Given the description of an element on the screen output the (x, y) to click on. 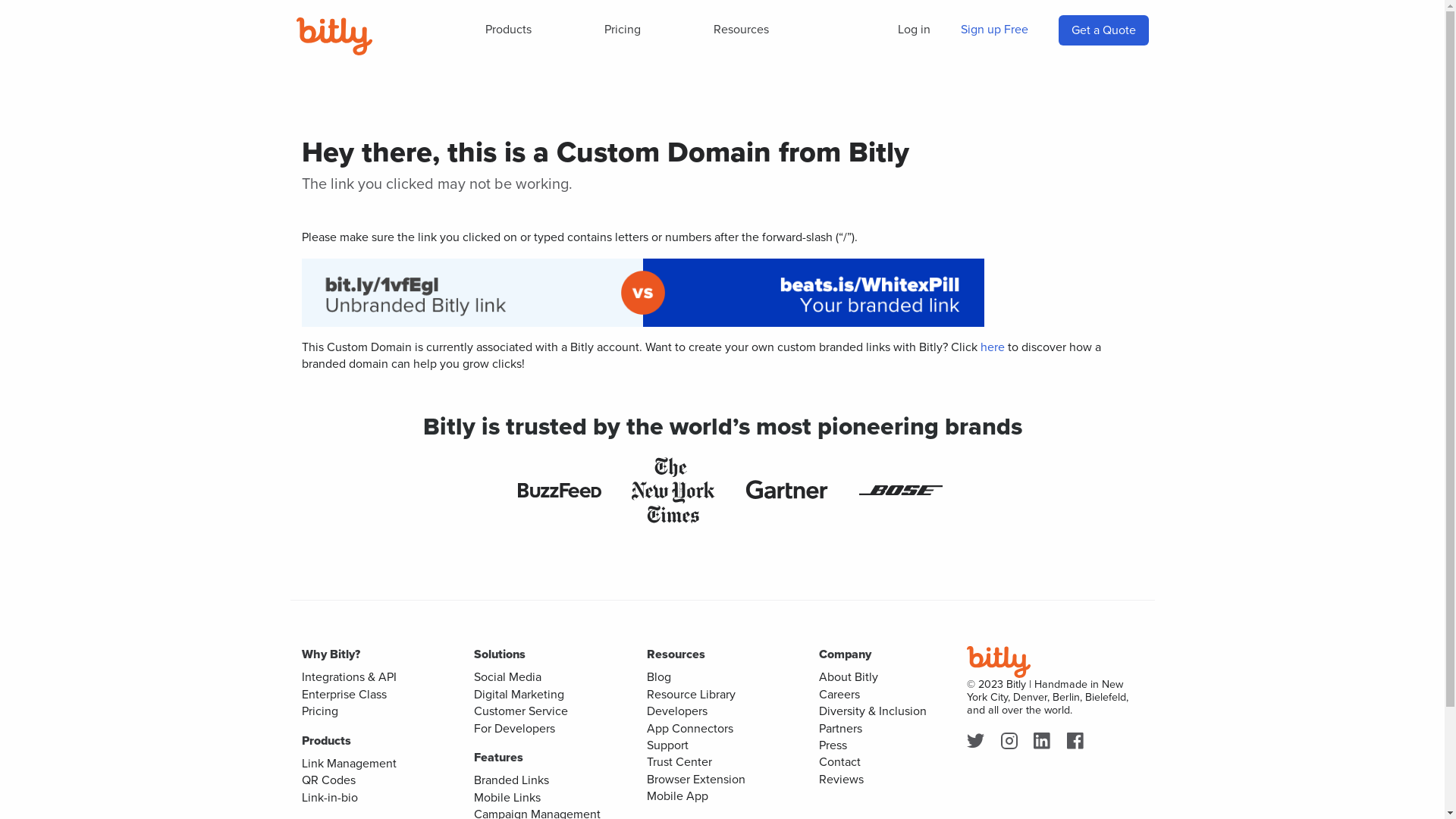
Digital Marketing Element type: text (518, 693)
linkedin Element type: text (1044, 742)
Pricing Element type: text (319, 710)
Careers Element type: text (839, 693)
For Developers Element type: text (514, 728)
Customer Service Element type: text (520, 710)
Mobile Links Element type: text (506, 797)
Social Media Element type: text (507, 676)
Resources Element type: text (741, 29)
Partners Element type: text (840, 728)
Enterprise Class Element type: text (343, 693)
Resource Library Element type: text (690, 693)
Trust Center Element type: text (678, 761)
Blog Element type: text (658, 676)
About Bitly Element type: text (848, 676)
Mobile App Element type: text (676, 795)
App Connectors Element type: text (689, 728)
here Element type: text (991, 346)
Products Element type: text (508, 29)
Pricing Element type: text (622, 29)
Link Management Element type: text (348, 762)
Browser Extension Element type: text (695, 778)
Sign up Free Element type: text (993, 29)
Reviews Element type: text (841, 778)
Diversity & Inclusion Element type: text (872, 710)
Press Element type: text (833, 744)
Contact Element type: text (839, 761)
Branded Links Element type: text (511, 779)
Get a Quote Element type: text (1102, 29)
Link-in-bio Element type: text (329, 797)
Integrations & API Element type: text (348, 676)
Developers Element type: text (676, 710)
QR Codes Element type: text (328, 779)
Log in Element type: text (913, 29)
Support Element type: text (666, 744)
Facebook Element type: text (1077, 742)
twitter Element type: text (977, 742)
